Given the description of an element on the screen output the (x, y) to click on. 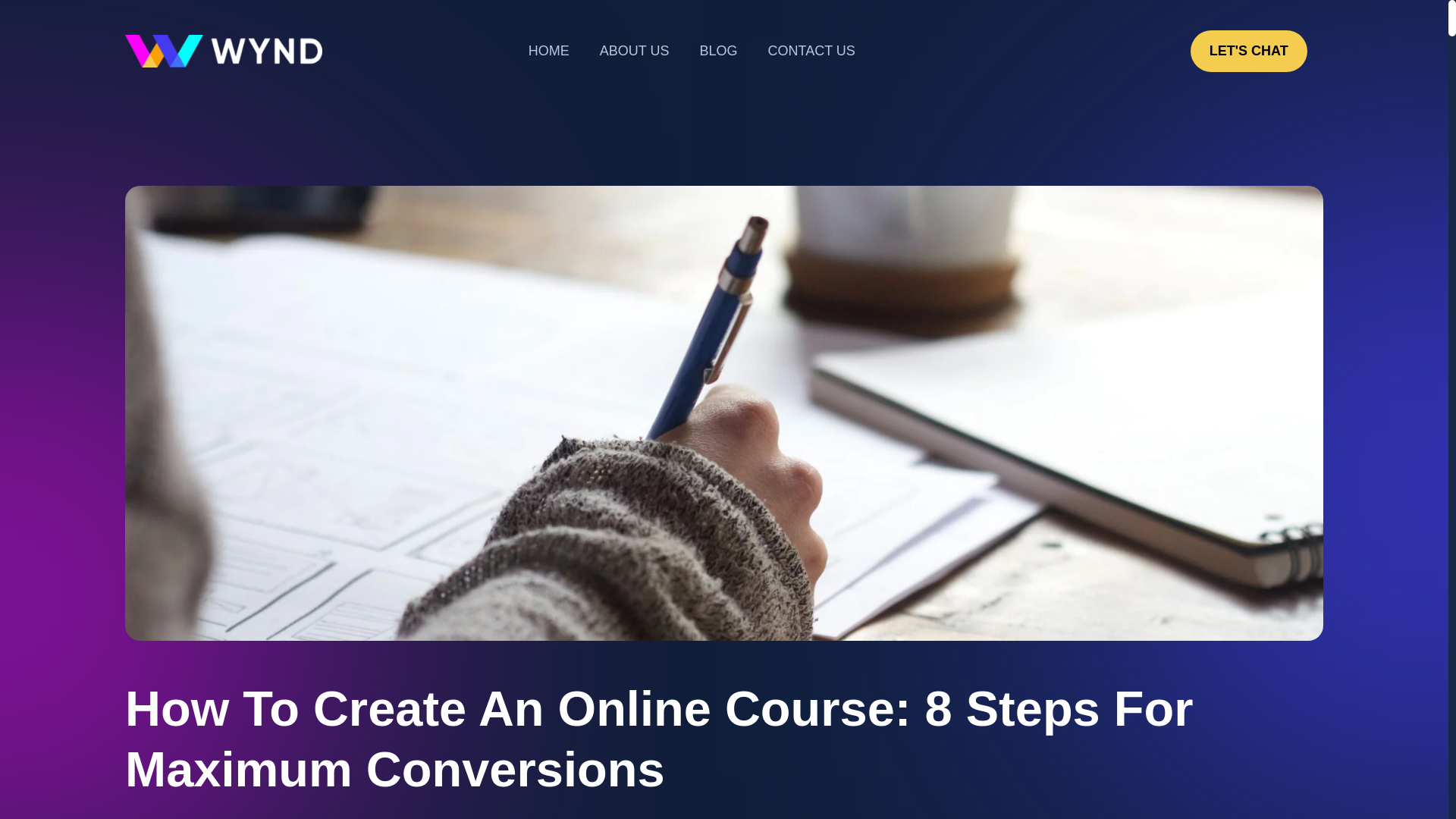
ABOUT US (634, 51)
LET'S CHAT (1249, 51)
CONTACT US (810, 51)
BLOG (718, 51)
HOME (549, 51)
